Given the description of an element on the screen output the (x, y) to click on. 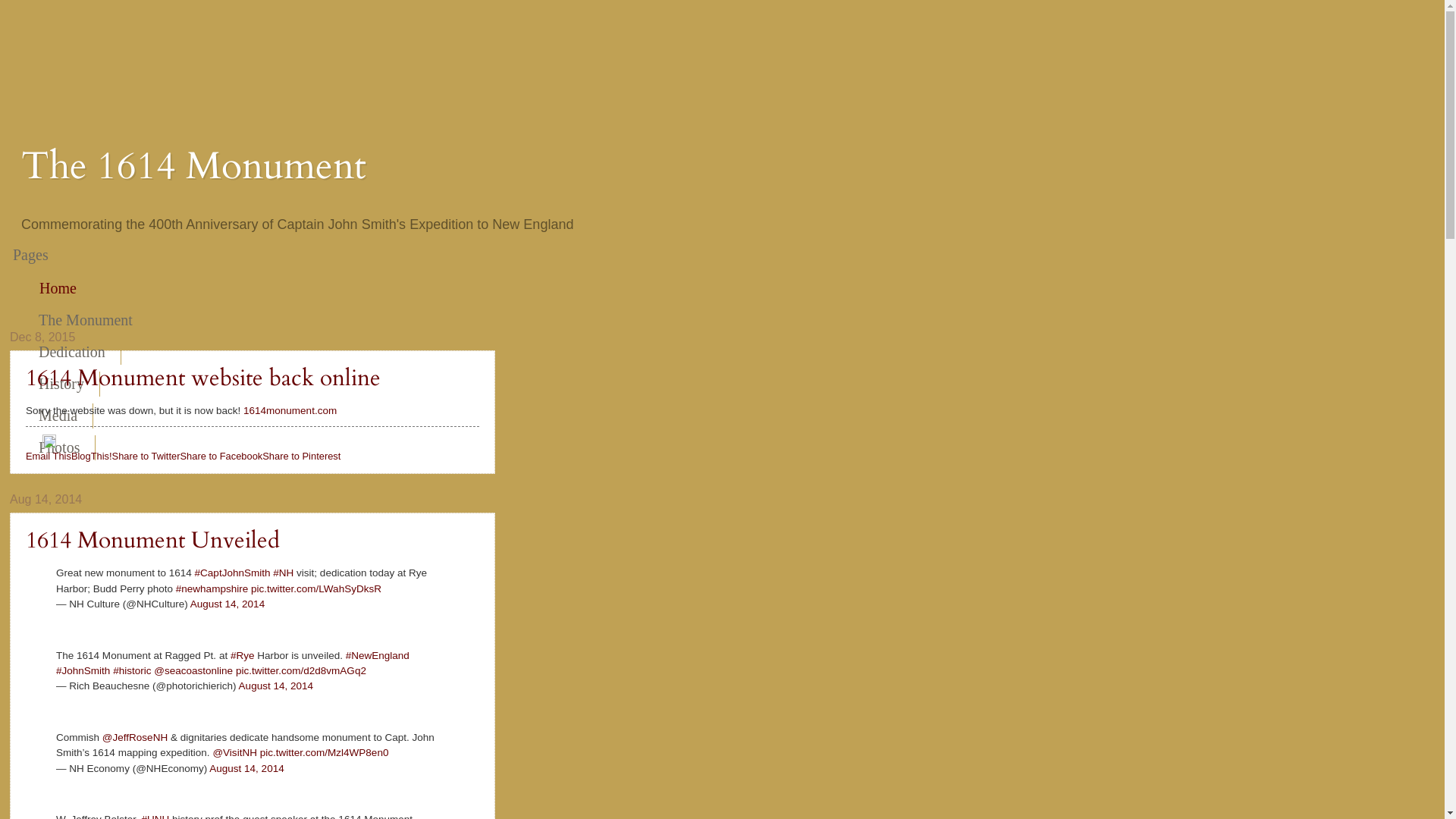
Email This Element type: text (48, 455)
1614 Monument website back online Element type: text (202, 377)
#historic Element type: text (131, 670)
Photos Element type: text (59, 447)
#newhampshire Element type: text (211, 588)
The Monument Element type: text (85, 319)
pic.twitter.com/Mzl4WP8en0 Element type: text (324, 752)
1614monument.com Element type: text (289, 410)
August 14, 2014 Element type: text (246, 768)
August 14, 2014 Element type: text (227, 603)
pic.twitter.com/LWahSyDksR Element type: text (316, 588)
August 14, 2014 Element type: text (275, 685)
Share to Facebook Element type: text (220, 455)
Dedication Element type: text (72, 351)
Share to Pinterest Element type: text (301, 455)
Share to Twitter Element type: text (146, 455)
Edit Post Element type: hover (49, 444)
Email Post Element type: hover (33, 444)
#CaptJohnSmith Element type: text (232, 572)
@seacoastonline Element type: text (192, 670)
BlogThis! Element type: text (91, 455)
History Element type: text (61, 383)
1614 Monument Unveiled Element type: text (152, 539)
@JeffRoseNH Element type: text (134, 737)
#JohnSmith Element type: text (82, 670)
#NH Element type: text (283, 572)
Home Element type: text (57, 288)
#NewEngland Element type: text (377, 655)
Media Element type: text (58, 415)
#Rye Element type: text (242, 655)
@VisitNH Element type: text (234, 752)
pic.twitter.com/d2d8vmAGq2 Element type: text (300, 670)
